Given the description of an element on the screen output the (x, y) to click on. 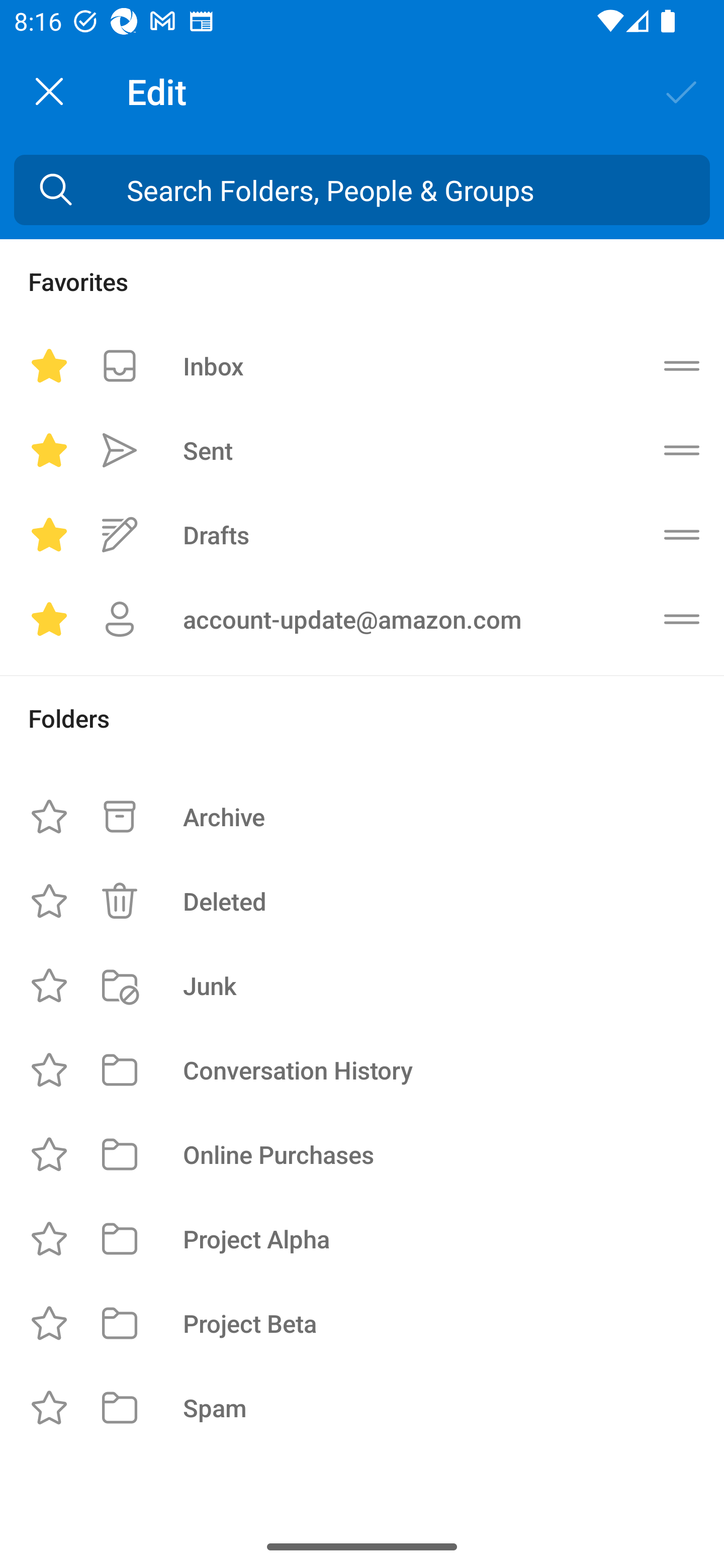
Cancel (49, 91)
Done (681, 90)
Search Folders, People & Groups (361, 190)
Remove Inbox from favorite (49, 365)
Reorder Inbox (681, 365)
Remove Sent from favorite (49, 449)
Reorder Sent (681, 449)
Remove Drafts from favorite (49, 534)
Reorder Drafts (681, 534)
Remove account-update@amazon.com from favorite (49, 619)
Reorder account-update@amazon.com (681, 619)
Add Archive to favorite (49, 816)
Add Deleted to favorite (49, 901)
Add Junk to favorite (49, 985)
Add Conversation History to favorite (49, 1069)
Add Online Purchases to favorite (49, 1153)
Add Project Alpha to favorite (49, 1238)
Add Project Beta to favorite (49, 1323)
Add Spam to favorite (49, 1407)
